Given the description of an element on the screen output the (x, y) to click on. 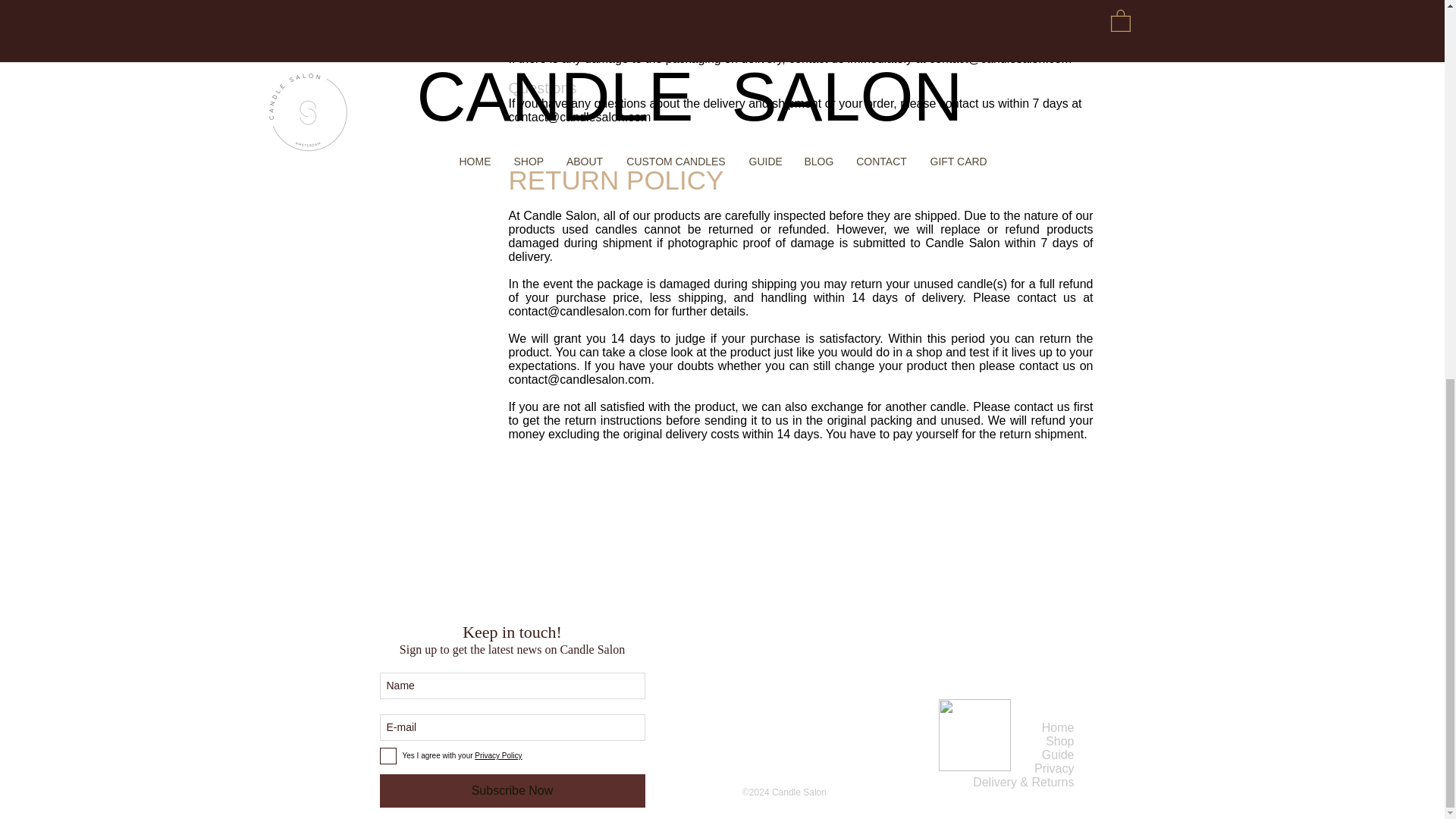
Candle-Salon-Logo-groot2-transparant.png (974, 735)
Guide (1058, 754)
Home (1058, 727)
Subscribe Now (511, 790)
Privacy Policy (497, 755)
Privacy (1053, 768)
Shop (1059, 740)
